Given the description of an element on the screen output the (x, y) to click on. 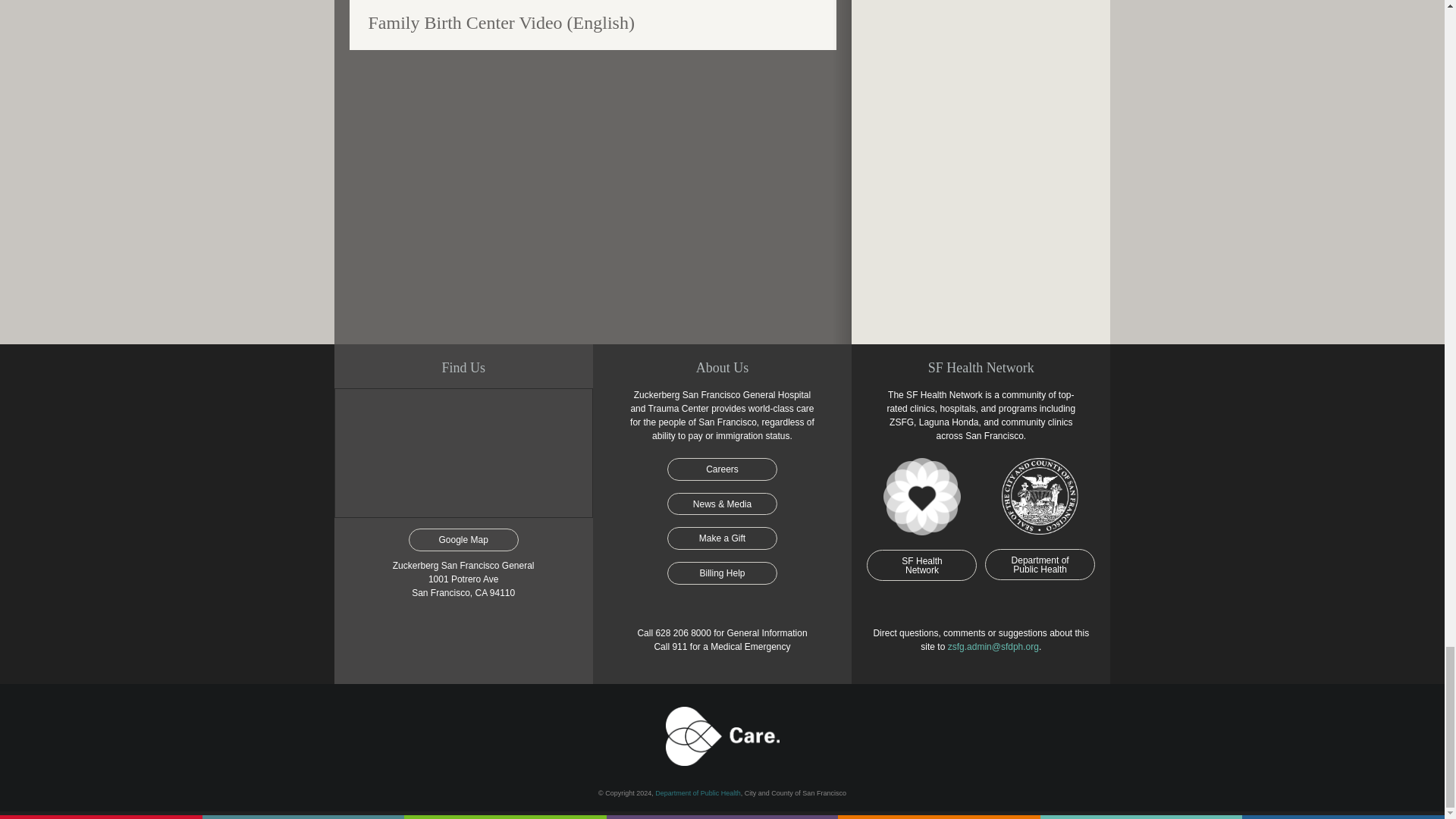
ZSFG-FBC-English-Subs-1080p (591, 186)
